Given the description of an element on the screen output the (x, y) to click on. 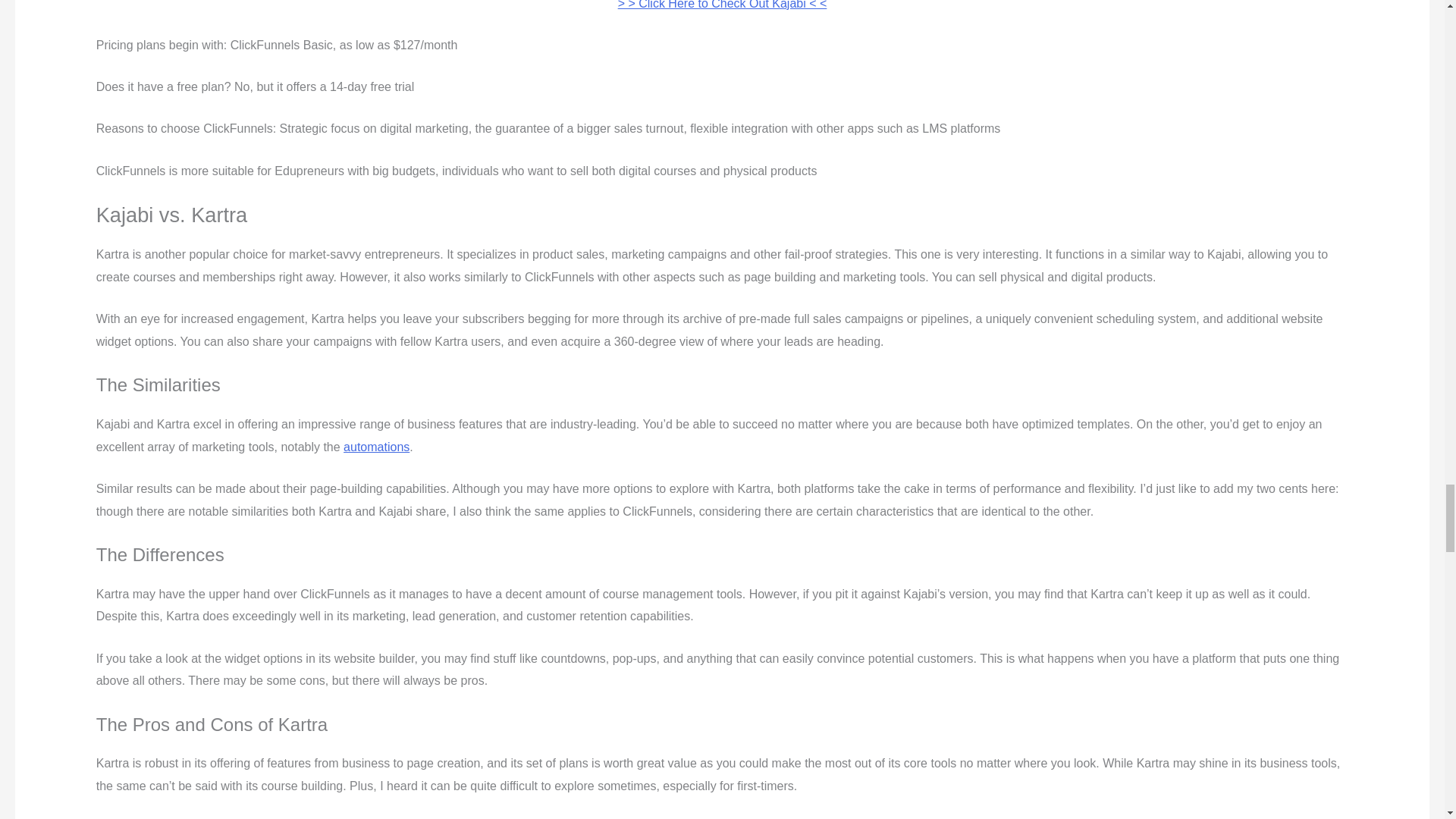
automations (376, 446)
